Given the description of an element on the screen output the (x, y) to click on. 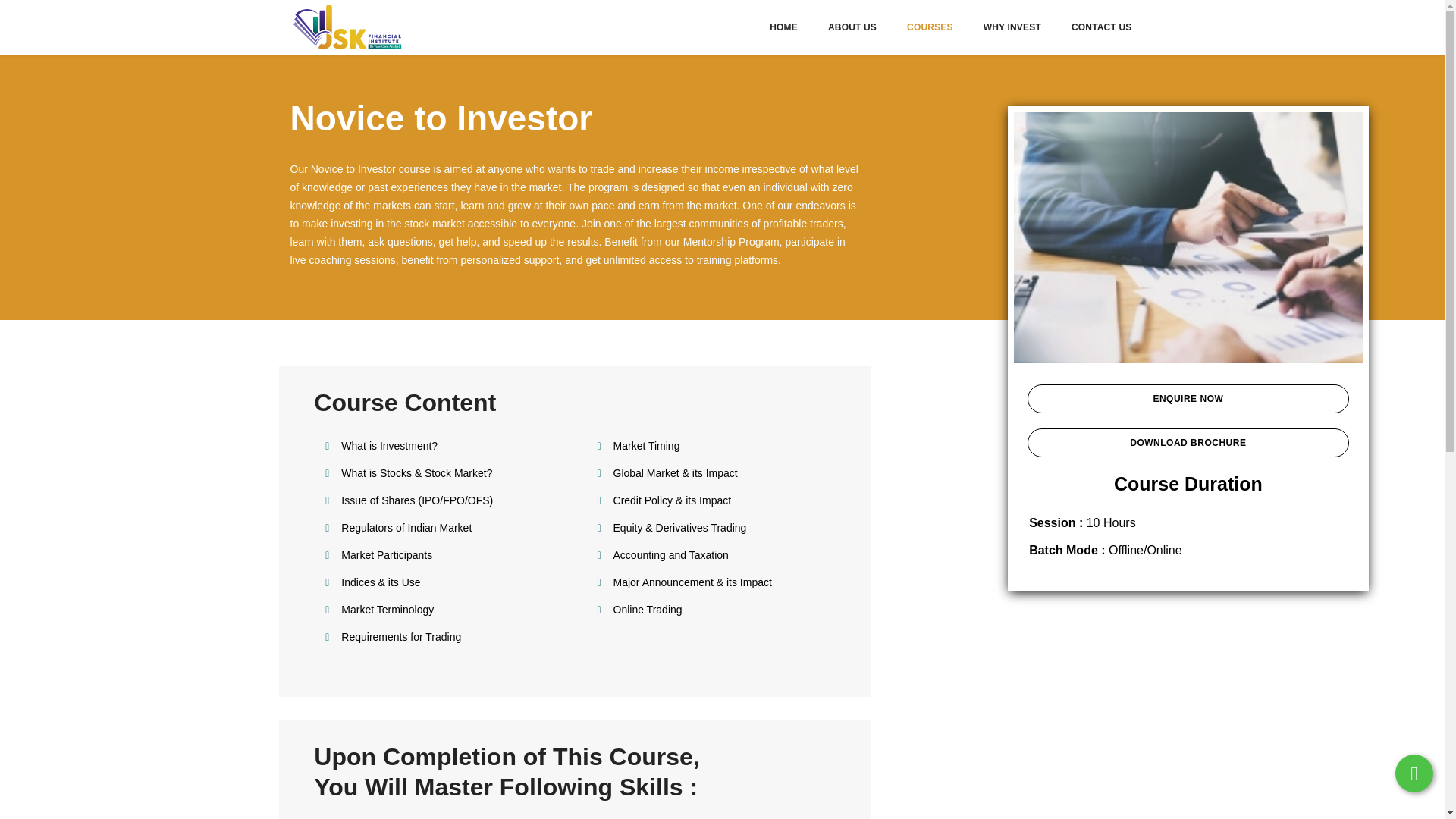
ENQUIRE NOW (1188, 398)
Jsk (346, 26)
DOWNLOAD BROCHURE (1188, 442)
WHY INVEST (1012, 27)
CONTACT US (1101, 27)
